Given the description of an element on the screen output the (x, y) to click on. 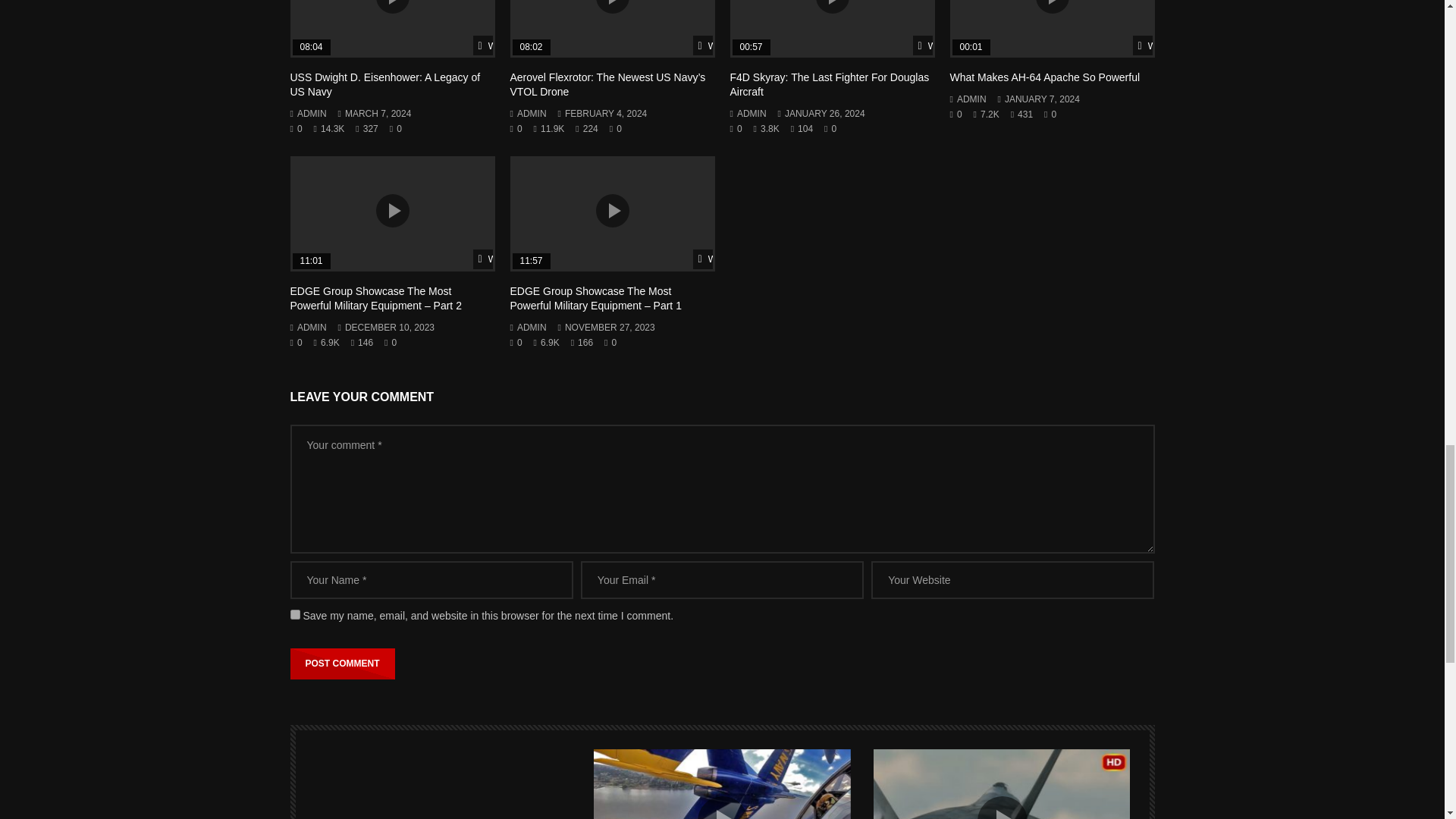
Post comment (341, 663)
yes (294, 614)
